Given the description of an element on the screen output the (x, y) to click on. 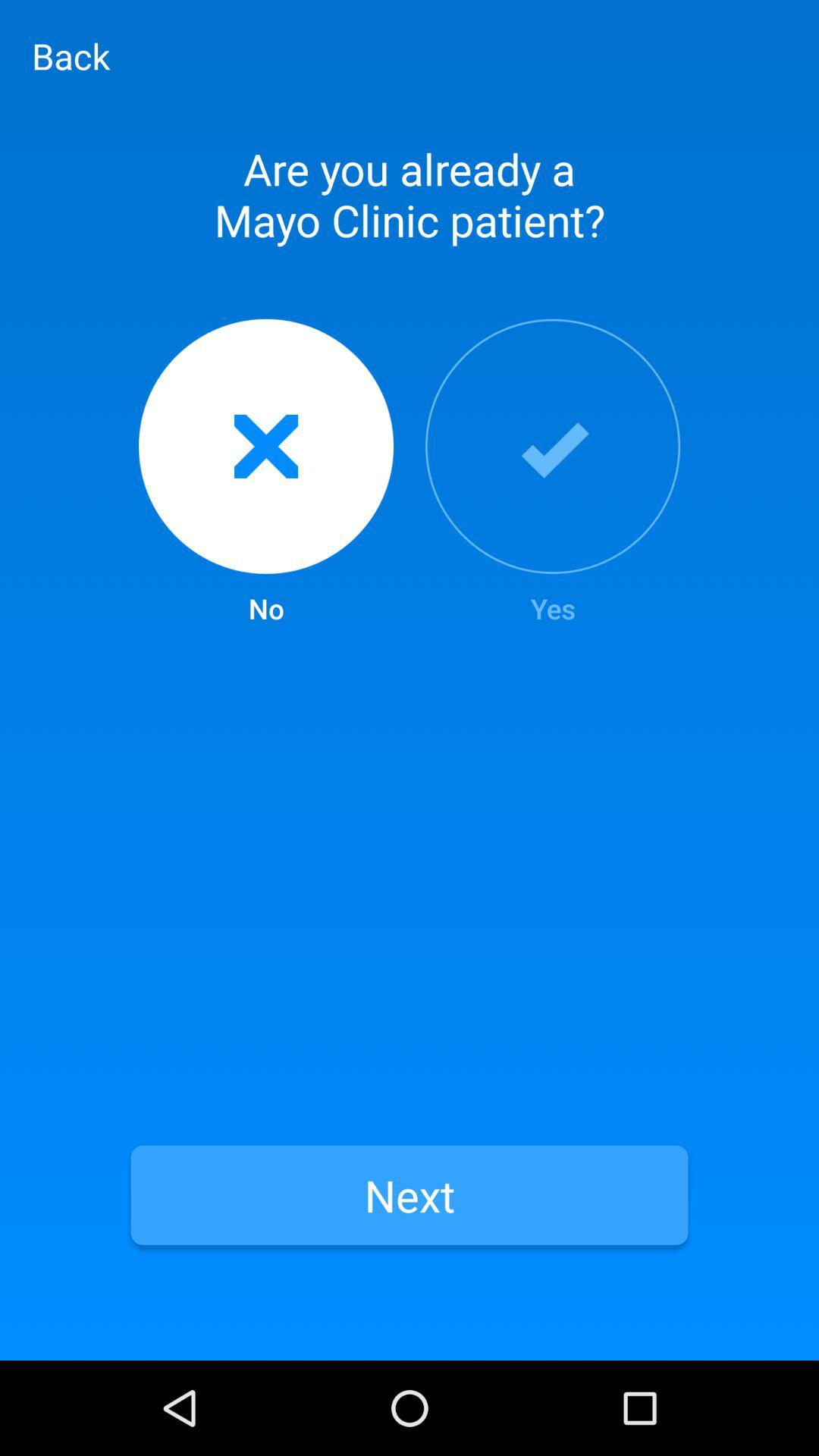
launch the item below no (409, 1194)
